Given the description of an element on the screen output the (x, y) to click on. 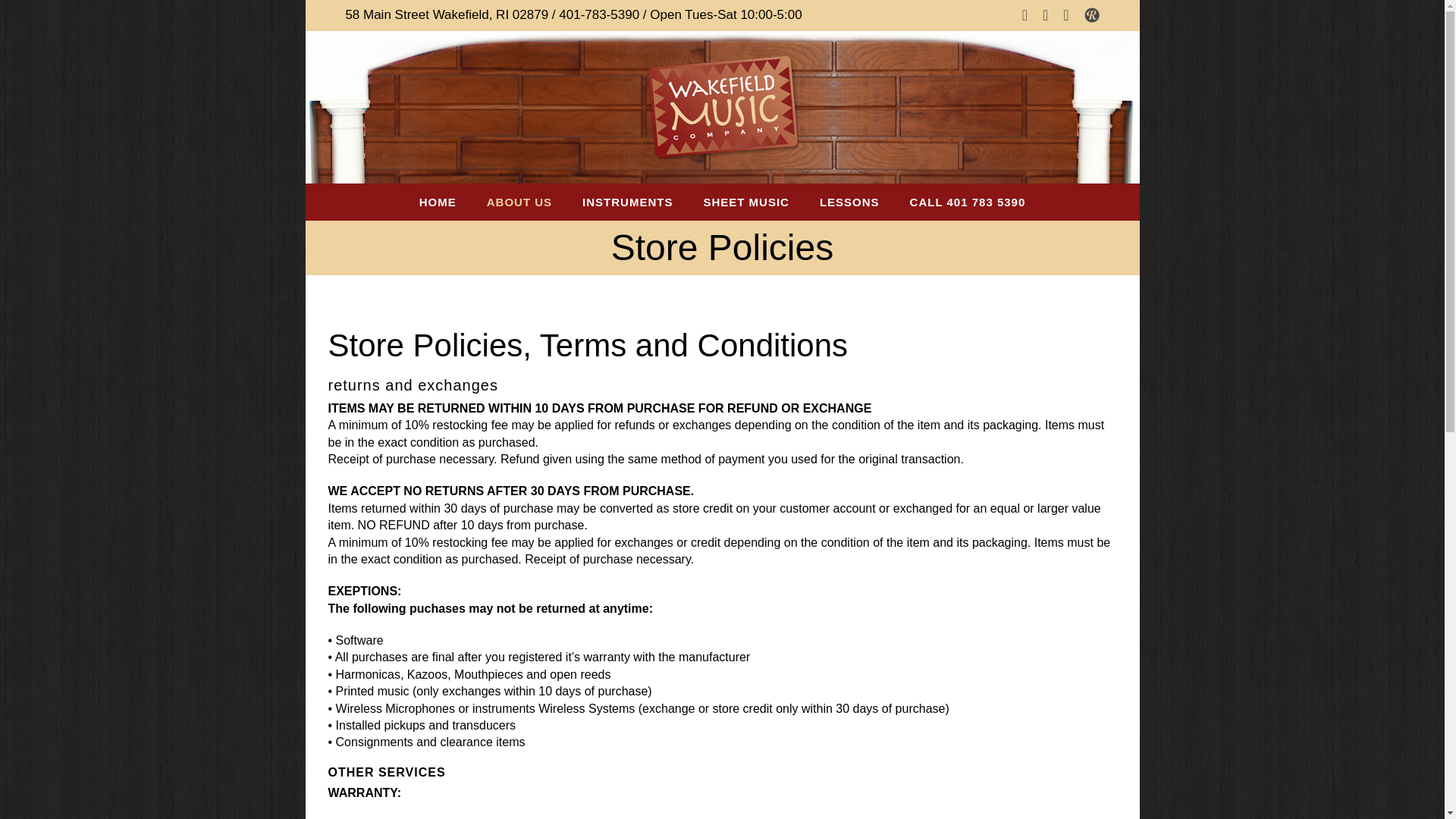
ABOUT US (518, 201)
SHEET MUSIC (746, 201)
INSTRUMENTS (627, 201)
HOME (438, 201)
Reverb (1091, 14)
LESSONS (849, 201)
Reverb (1091, 14)
CALL 401 783 5390 (968, 201)
